Given the description of an element on the screen output the (x, y) to click on. 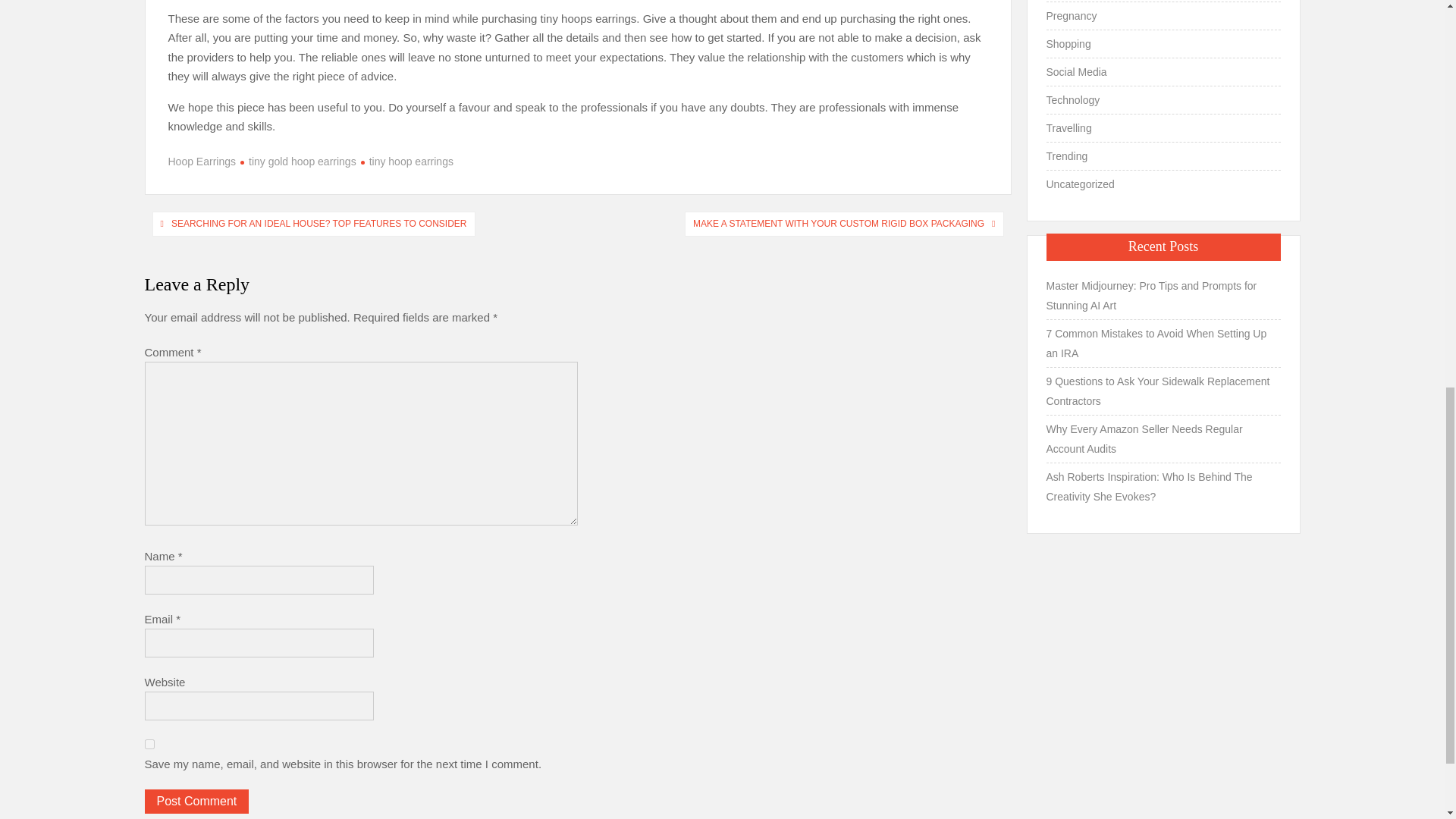
Post Comment (196, 801)
yes (149, 744)
